Given the description of an element on the screen output the (x, y) to click on. 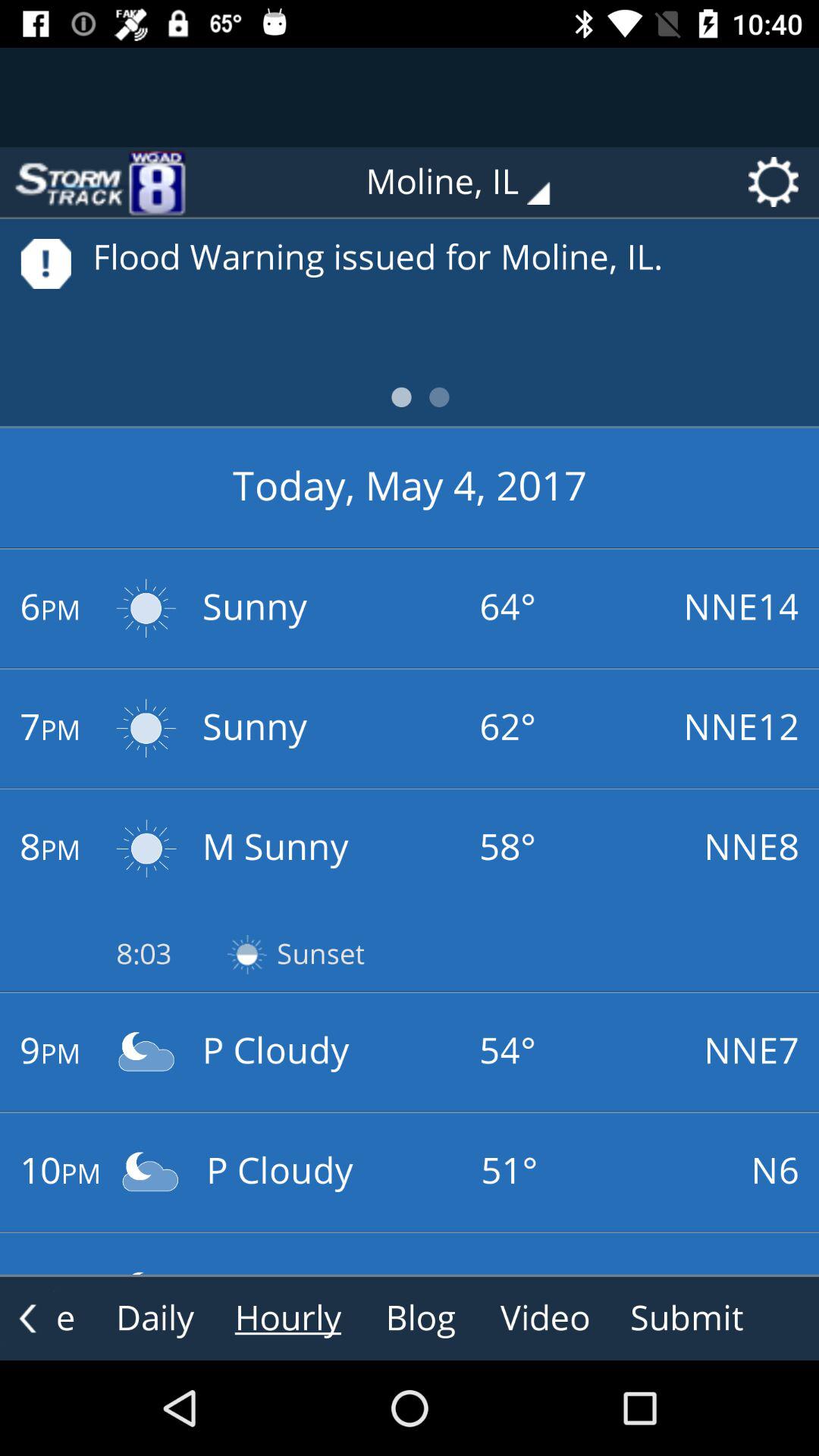
click on the text which is right side of daily (288, 1318)
select the text which is to the right side of the video (686, 1318)
